Given the description of an element on the screen output the (x, y) to click on. 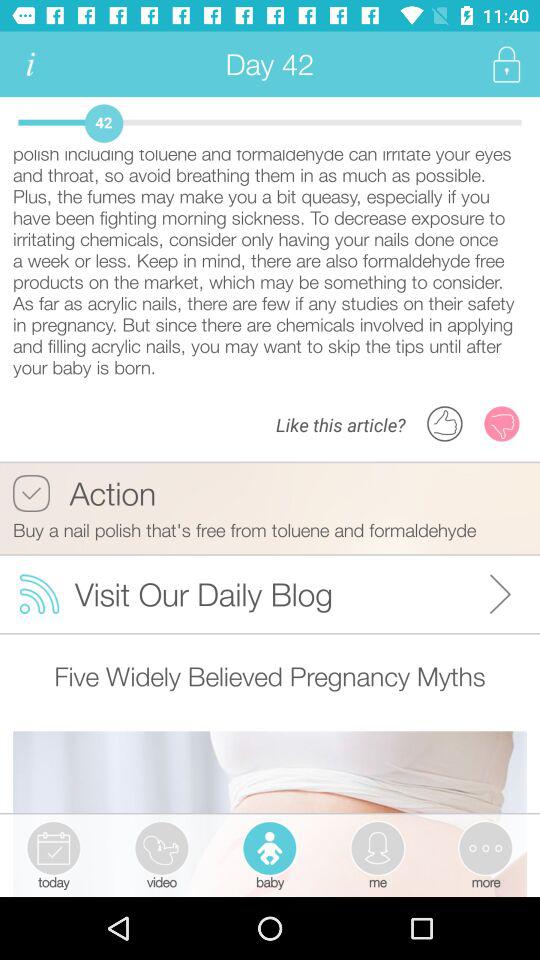
turn on the action button (84, 493)
